Given the description of an element on the screen output the (x, y) to click on. 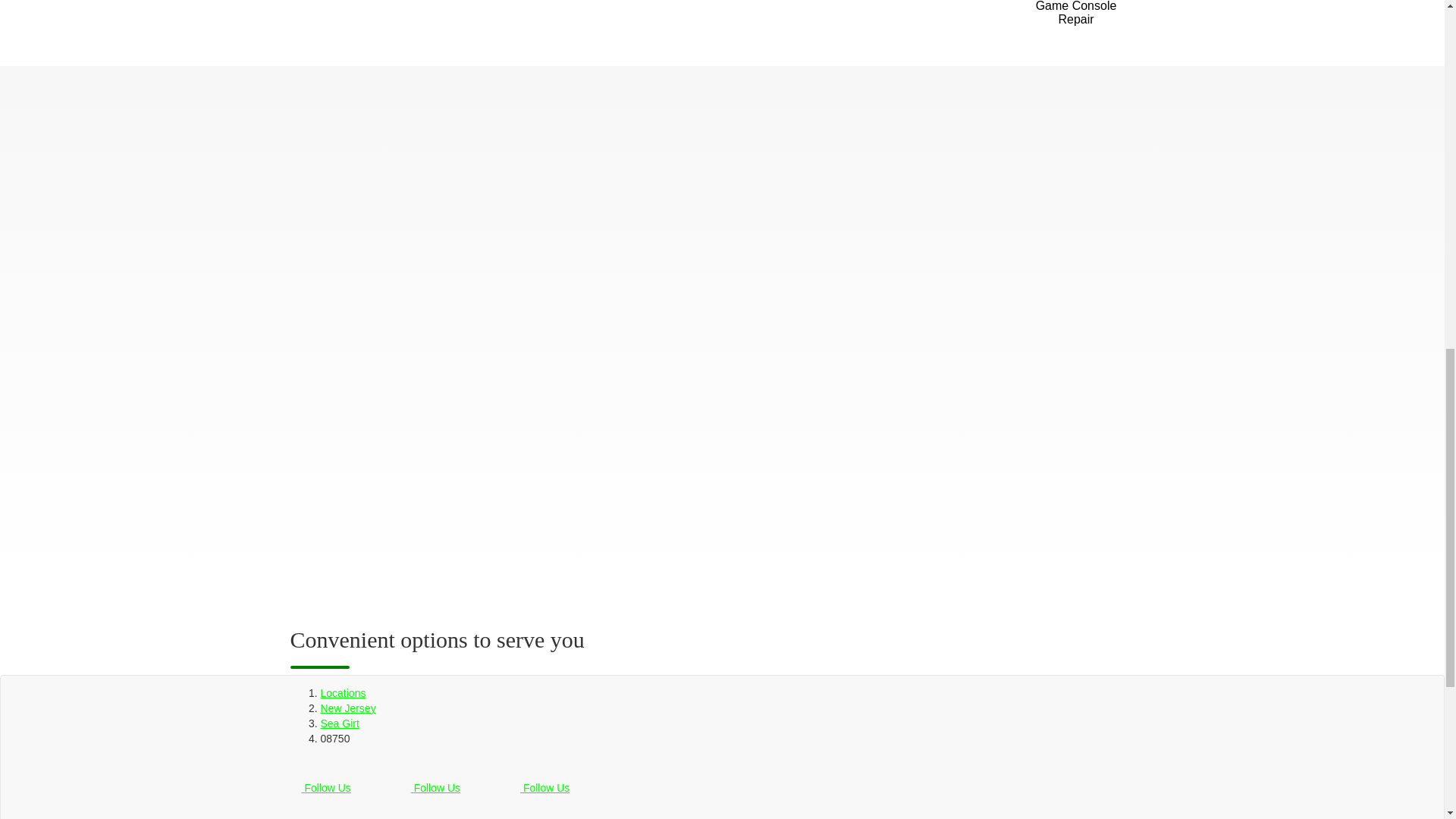
Computer Repair (921, 18)
Game Console Repair (1076, 18)
Tablet Repair (780, 18)
Samsung Repair (496, 18)
iPhone Repair (354, 18)
Google Repair (638, 18)
